Given the description of an element on the screen output the (x, y) to click on. 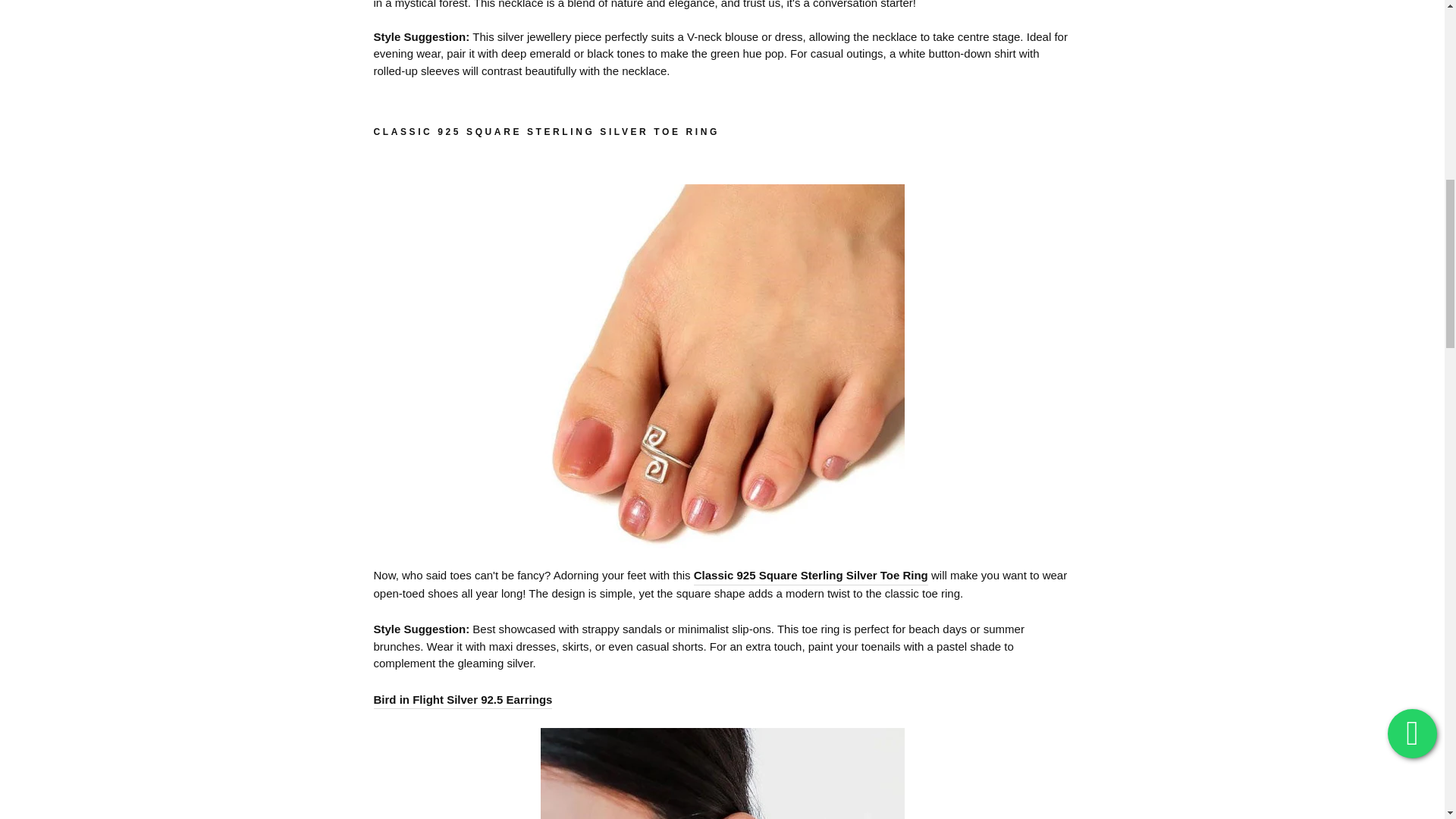
BIRD IN FLIGHT SILVER 92.5 EARRINGS (461, 700)
CLASSIC 925 SQUARE STERLING SILVER TOE RING (811, 576)
